Given the description of an element on the screen output the (x, y) to click on. 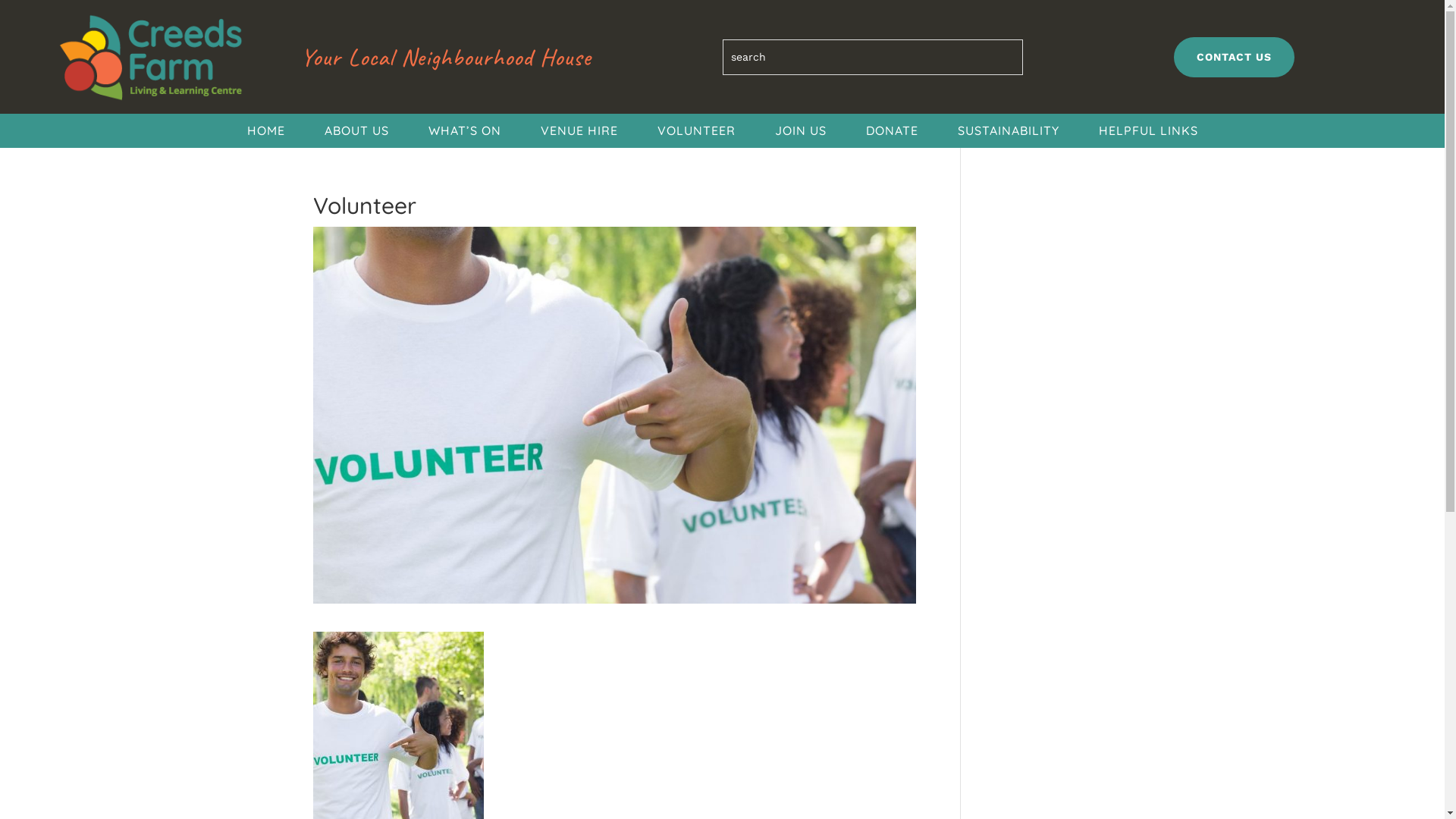
SUSTAINABILITY Element type: text (1008, 133)
DONATE Element type: text (890, 133)
VENUE HIRE Element type: text (579, 133)
VOLUNTEER Element type: text (696, 133)
JOIN US Element type: text (799, 133)
HOME Element type: text (265, 133)
Creeds-Farm-_Primary Element type: hover (149, 57)
CONTACT US Element type: text (1233, 57)
HELPFUL LINKS Element type: text (1148, 133)
ABOUT US Element type: text (355, 133)
Search Element type: text (25, 17)
